Given the description of an element on the screen output the (x, y) to click on. 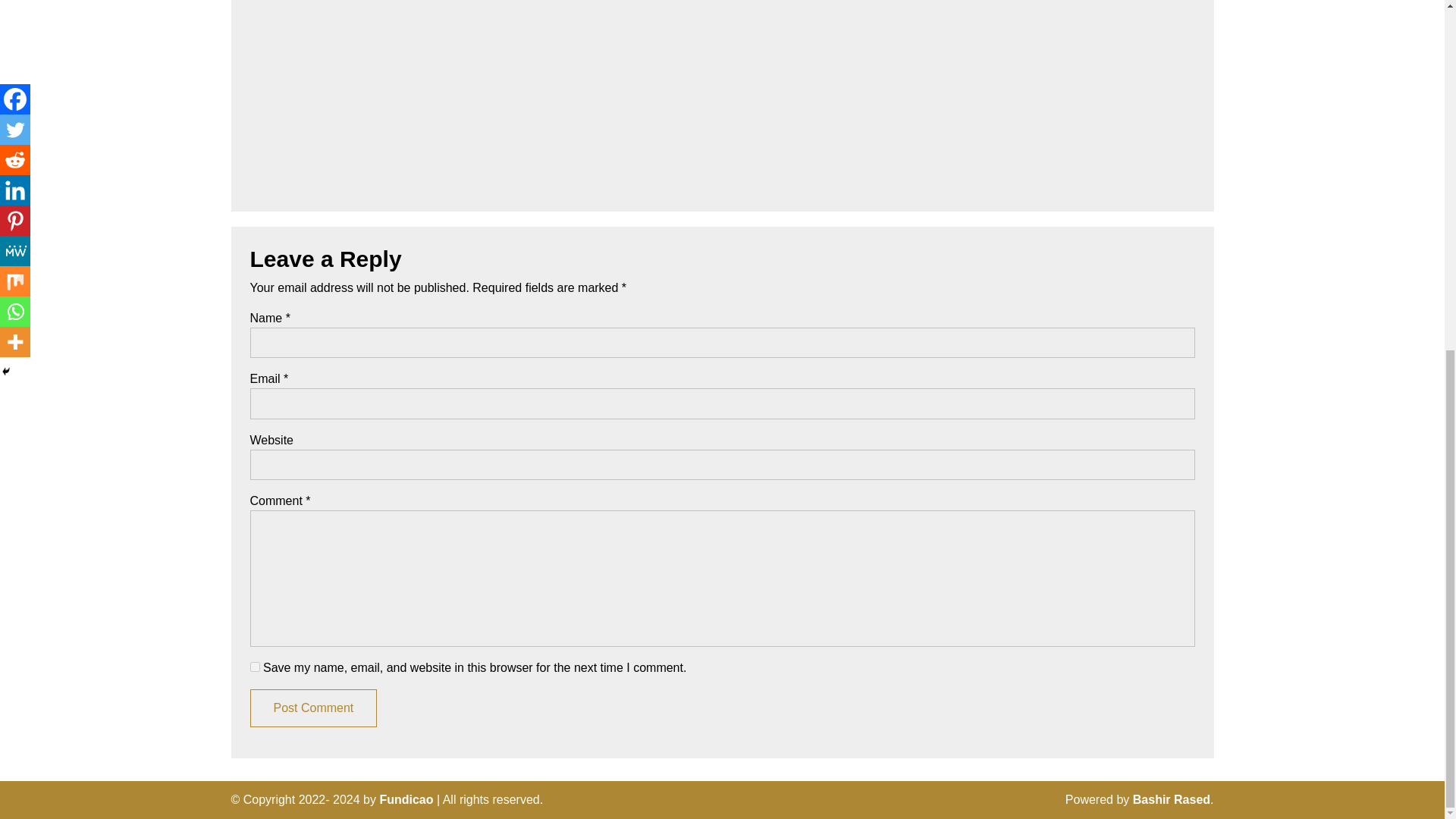
Post Comment (313, 708)
Fundicao (405, 799)
yes (255, 666)
Bashir Rased (1170, 799)
Post Comment (313, 708)
